Given the description of an element on the screen output the (x, y) to click on. 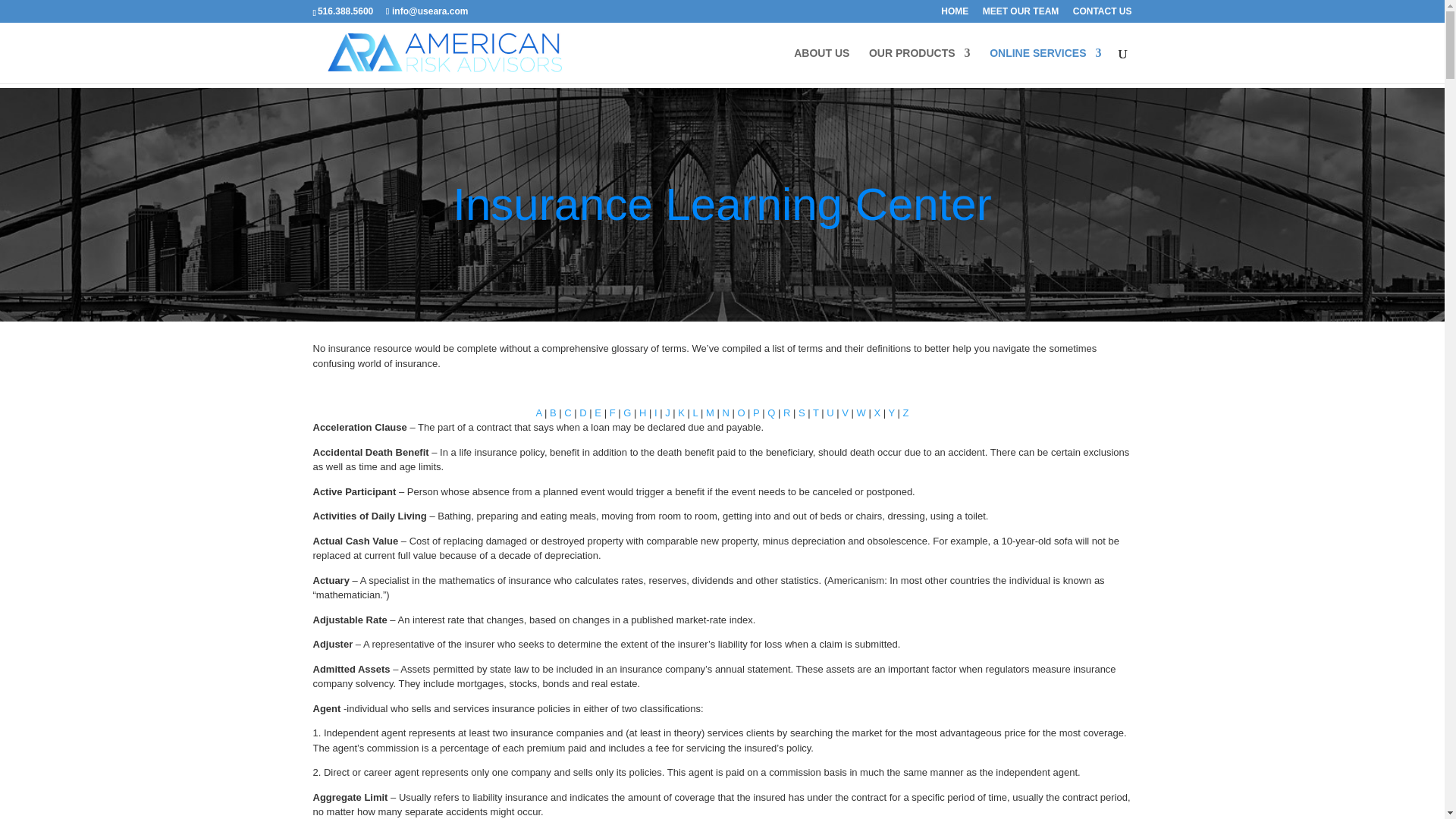
ONLINE SERVICES (1045, 65)
ABOUT US (820, 65)
OUR PRODUCTS (920, 65)
HOME (954, 14)
MEET OUR TEAM (1020, 14)
CONTACT US (1102, 14)
